Given the description of an element on the screen output the (x, y) to click on. 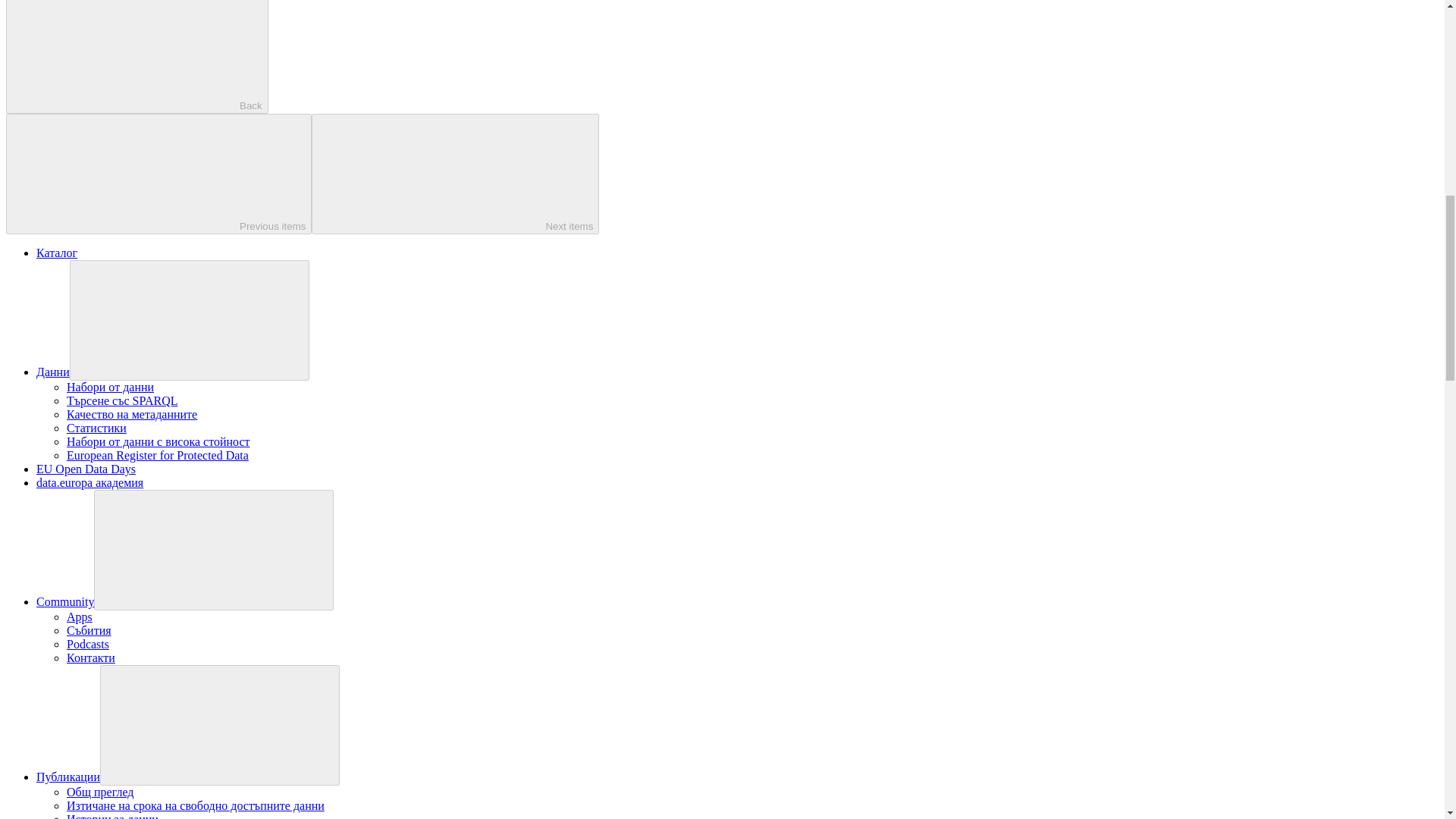
Back (136, 56)
European Register for Protected Data (157, 454)
EU Open Data Days (85, 468)
Podcasts (87, 644)
Community (65, 601)
Apps (79, 616)
Next items (454, 173)
Previous items (158, 173)
